Given the description of an element on the screen output the (x, y) to click on. 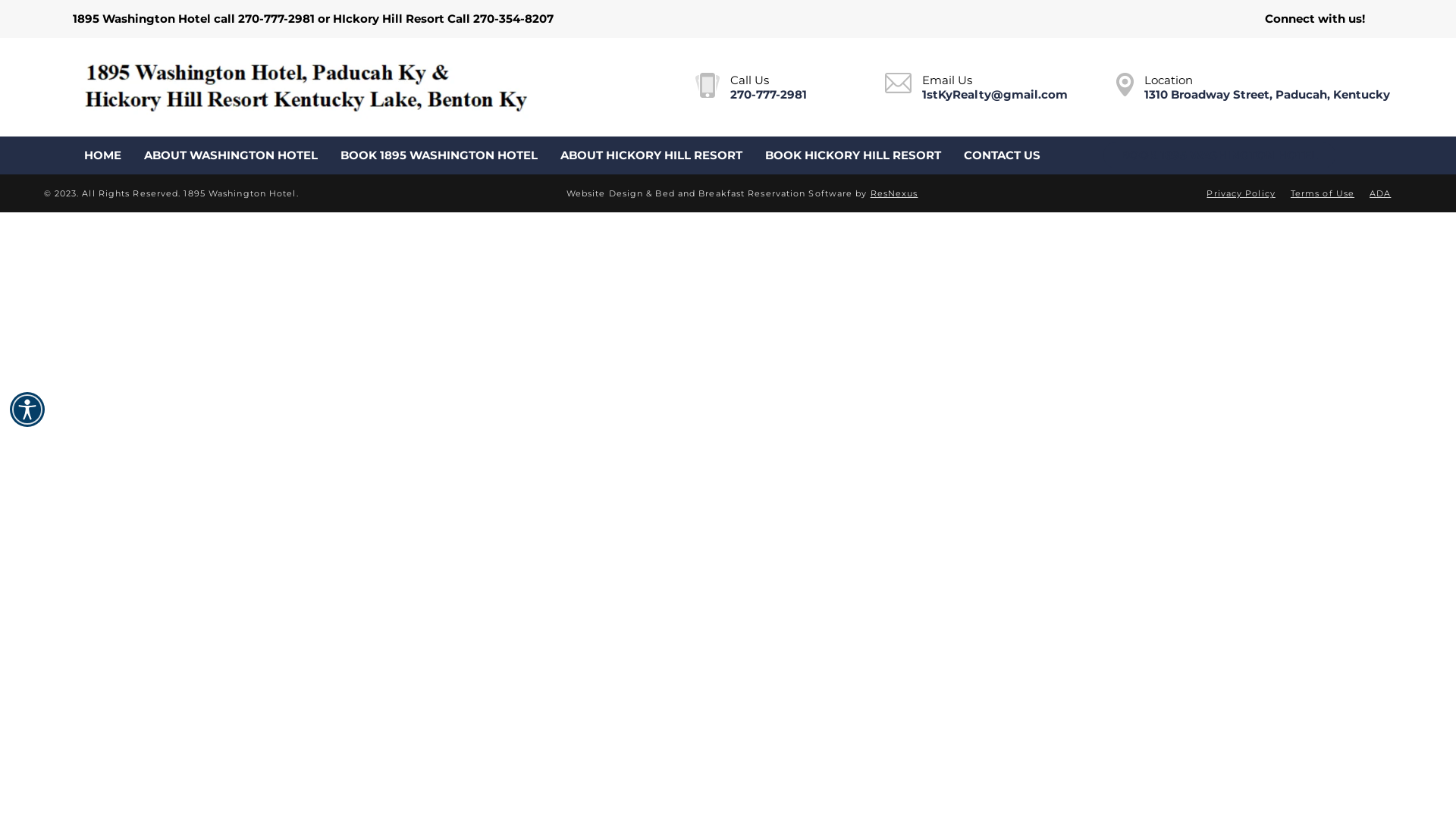
Terms of Use Element type: text (1322, 193)
Call Us
270-777-2981 Element type: text (750, 86)
BOOK 1895 WASHINGTON HOTEL Element type: text (439, 154)
ADA Element type: text (1379, 193)
Privacy Policy Element type: text (1240, 193)
HOME Element type: text (102, 154)
ResNexus Element type: text (894, 193)
ABOUT HICKORY HILL RESORT Element type: text (651, 154)
CONTACT US Element type: text (1001, 154)
Email Us
1stKyRealty@gmail.com Element type: text (976, 86)
Location
1310 Broadway Street, Paducah, Kentucky Element type: text (1252, 86)
ABOUT WASHINGTON HOTEL Element type: text (230, 154)
BOOK 1895 WASHINGTON HOTEL Element type: text (1219, 154)
BOOK HICKORY HILL RESORT Element type: text (852, 154)
